Given the description of an element on the screen output the (x, y) to click on. 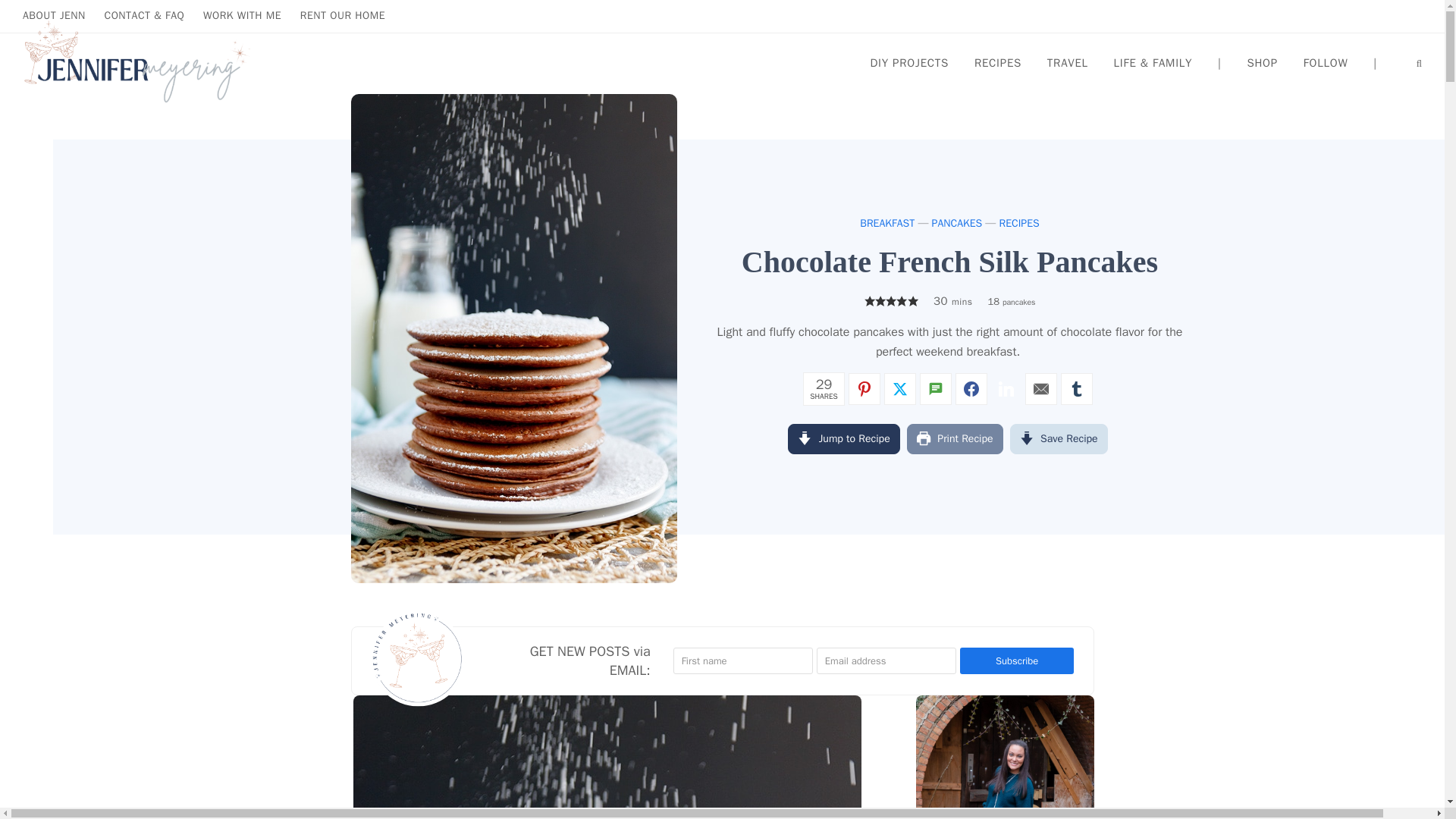
RECIPES (996, 62)
Share on Facebook (971, 388)
Share on Twitter (899, 388)
Share on Pinterest (864, 388)
RENT OUR HOME (342, 15)
WORK WITH ME (242, 15)
Share on Email (1041, 388)
TRAVEL (1066, 62)
Share on SMS (936, 388)
ABOUT JENN (54, 15)
DIY PROJECTS (908, 62)
Jump to Recipe (843, 438)
Share on LinkedIn (1006, 388)
Share on Tumblr (1077, 388)
Chocolate French Silk Pancakes 1 (607, 757)
